Given the description of an element on the screen output the (x, y) to click on. 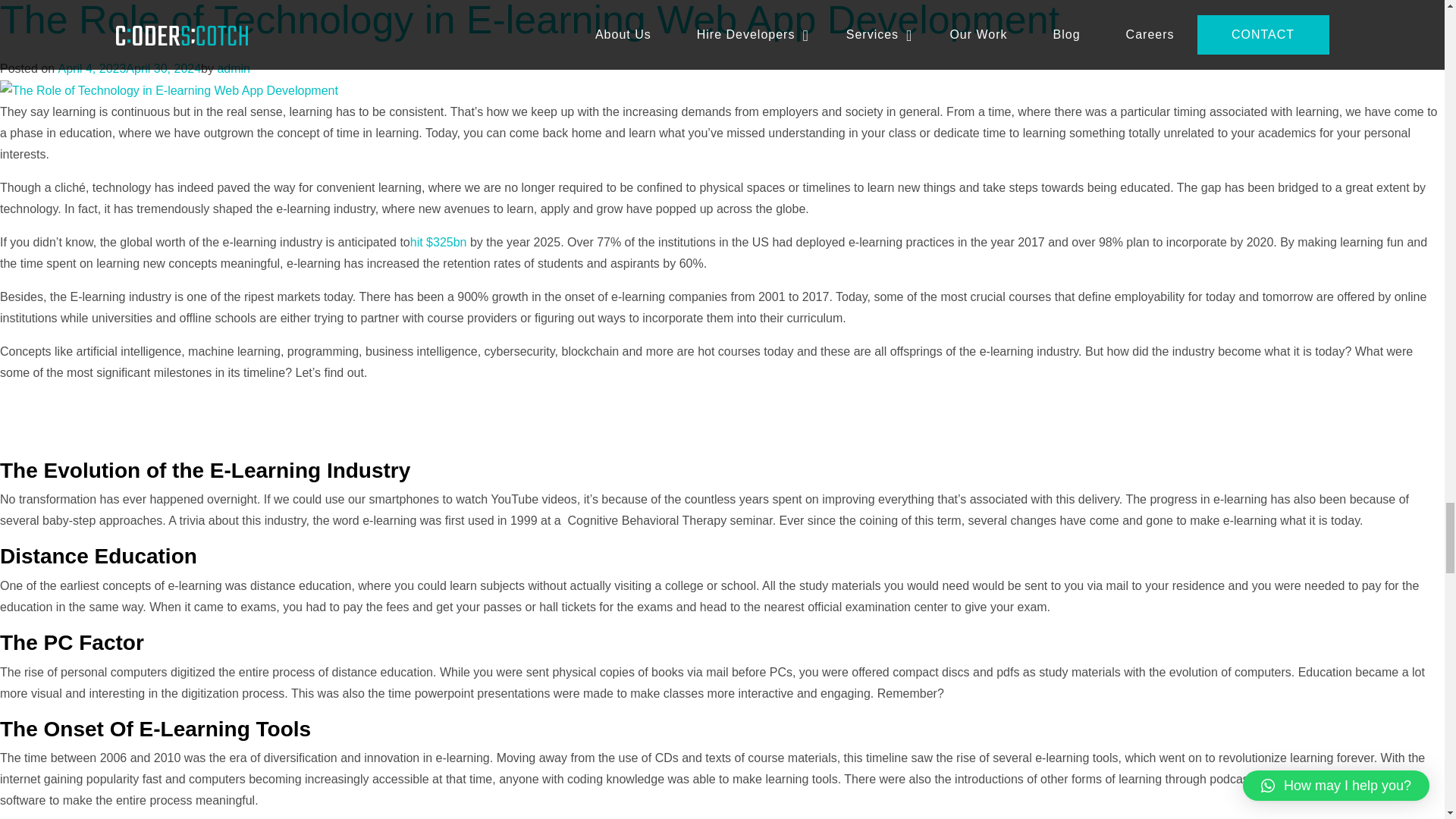
April 4, 2023April 30, 2024 (129, 68)
The Role of Technology in E-learning Web App Development (529, 21)
admin (233, 68)
